Given the description of an element on the screen output the (x, y) to click on. 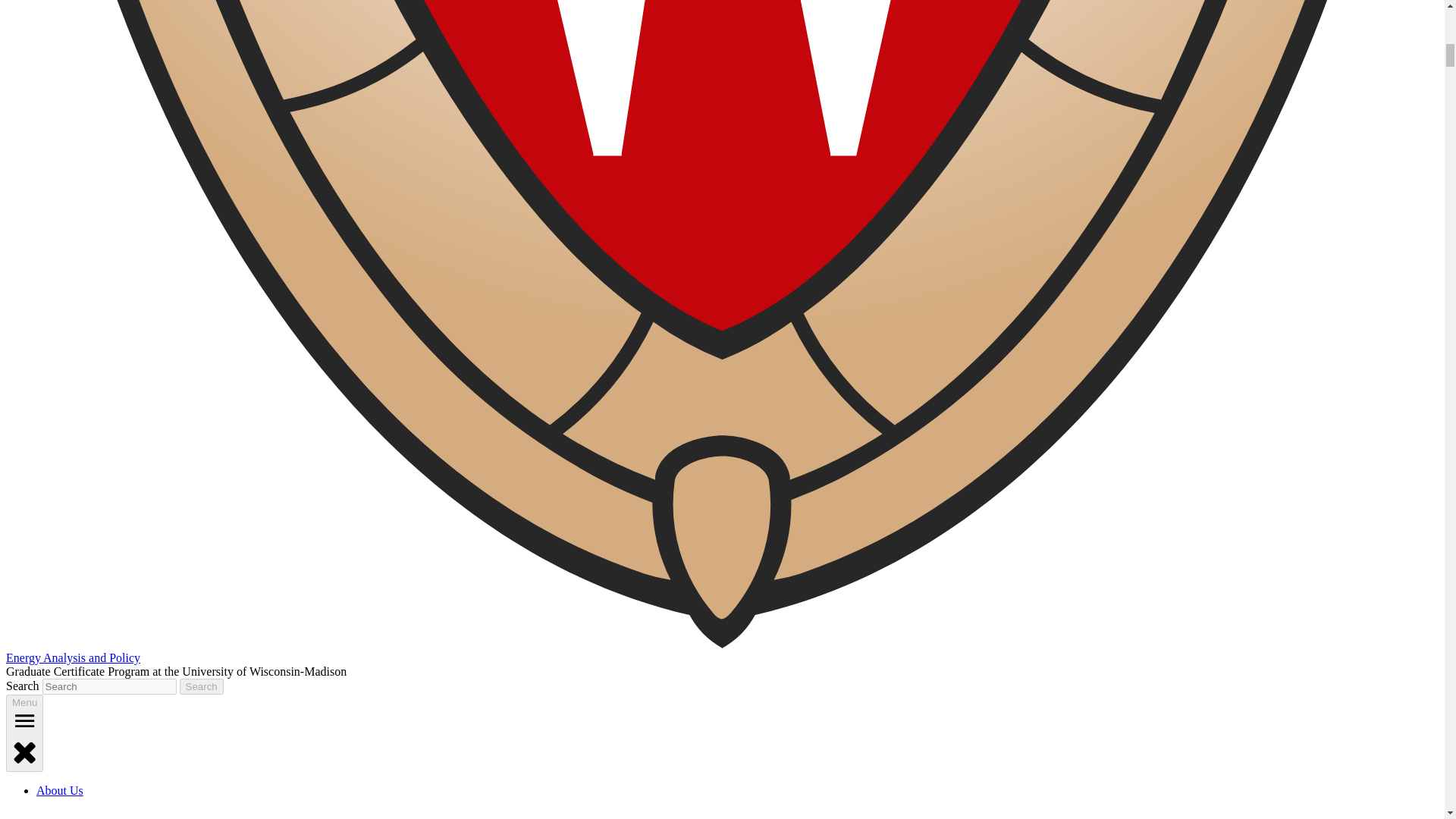
Search (201, 686)
Energy Analysis and Policy (72, 657)
open menu (24, 720)
Search (201, 686)
Search (201, 686)
